Given the description of an element on the screen output the (x, y) to click on. 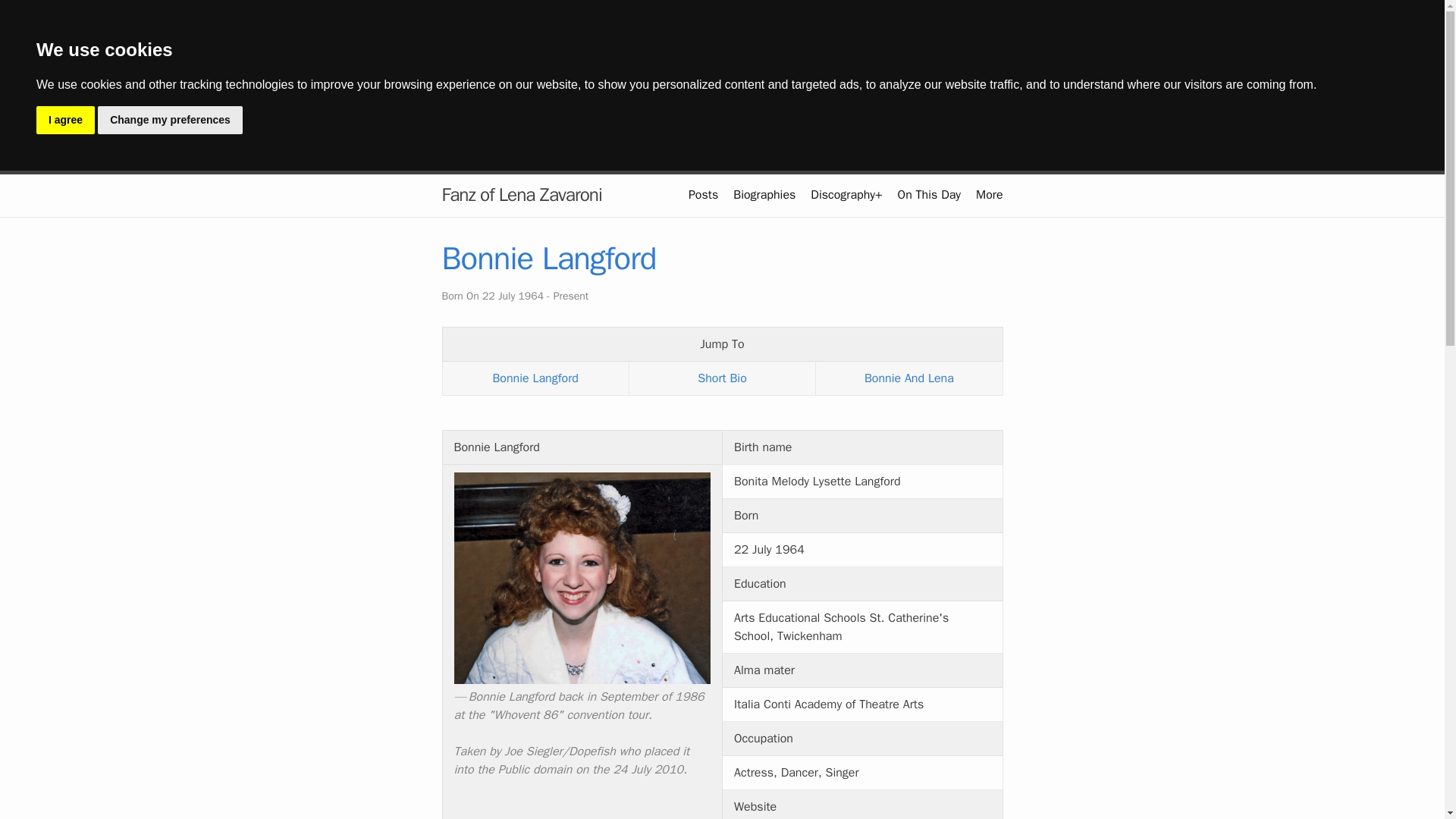
Posts (702, 194)
Change my preferences (170, 120)
Bonnie And Lena (908, 378)
On This Day (929, 194)
Bonnie Langford (535, 378)
Biographies (763, 194)
Short Bio (721, 378)
Fanz of Lena Zavaroni (521, 194)
Bonnie Langford (548, 258)
I agree (65, 120)
More (989, 194)
